Given the description of an element on the screen output the (x, y) to click on. 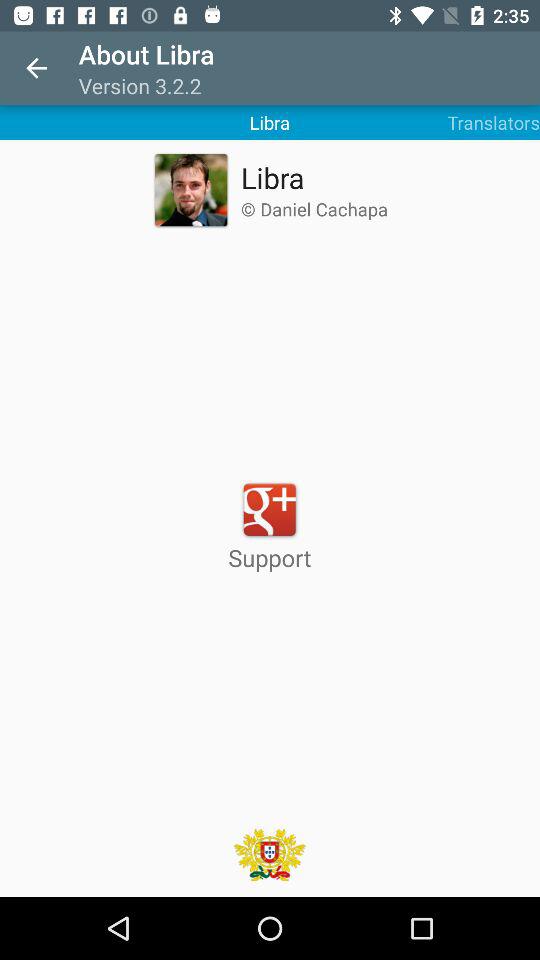
jump to support (269, 525)
